Given the description of an element on the screen output the (x, y) to click on. 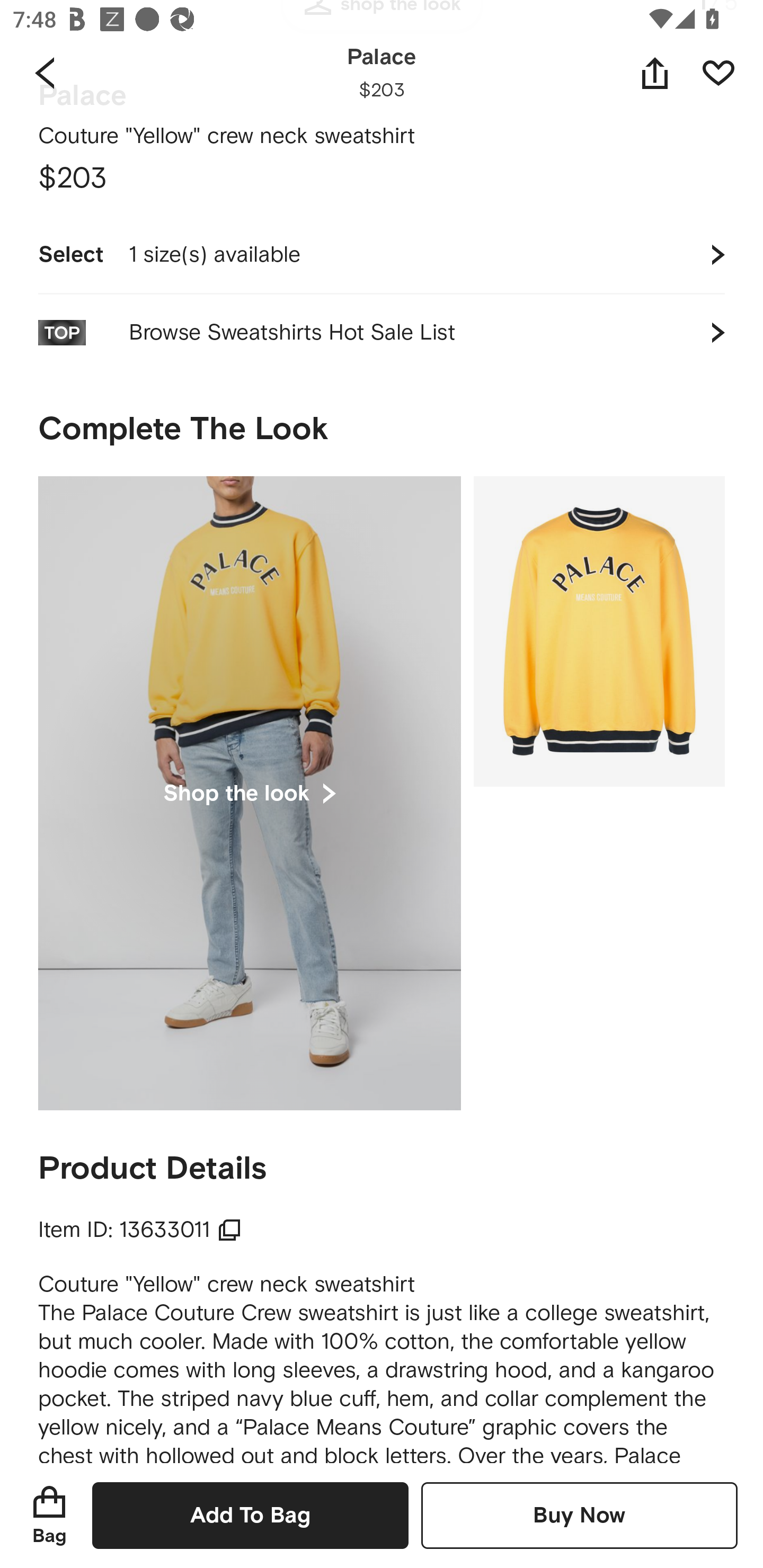
Select 1 size(s) available (381, 254)
Browse Sweatshirts Hot Sale List (381, 332)
Item ID: 13633011 (139, 1229)
Bag (49, 1515)
Add To Bag (250, 1515)
Buy Now (579, 1515)
